Given the description of an element on the screen output the (x, y) to click on. 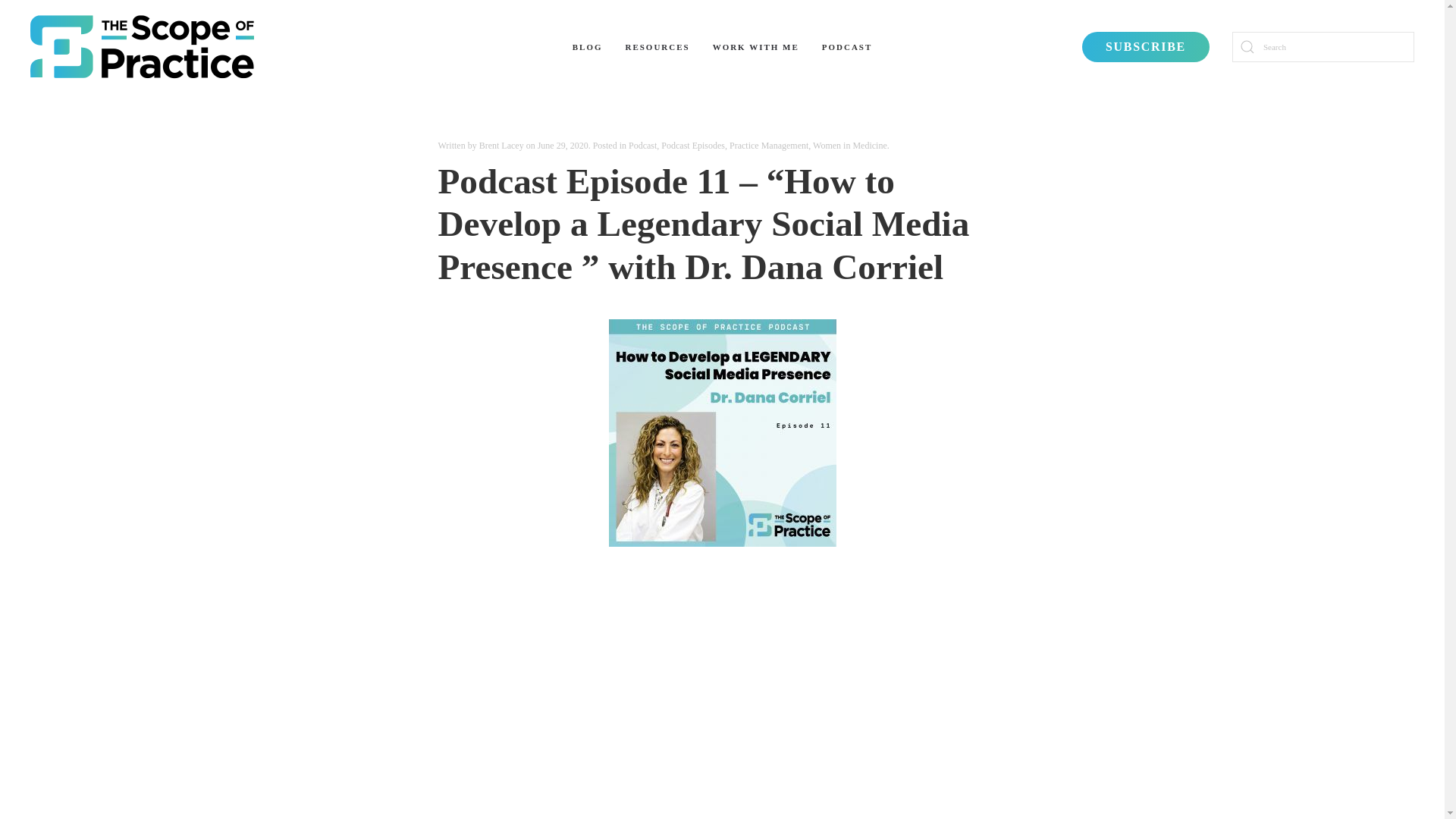
PODCAST (846, 46)
Brent Lacey (501, 145)
SUBSCRIBE (1145, 46)
WORK WITH ME (755, 46)
RESOURCES (656, 46)
